Given the description of an element on the screen output the (x, y) to click on. 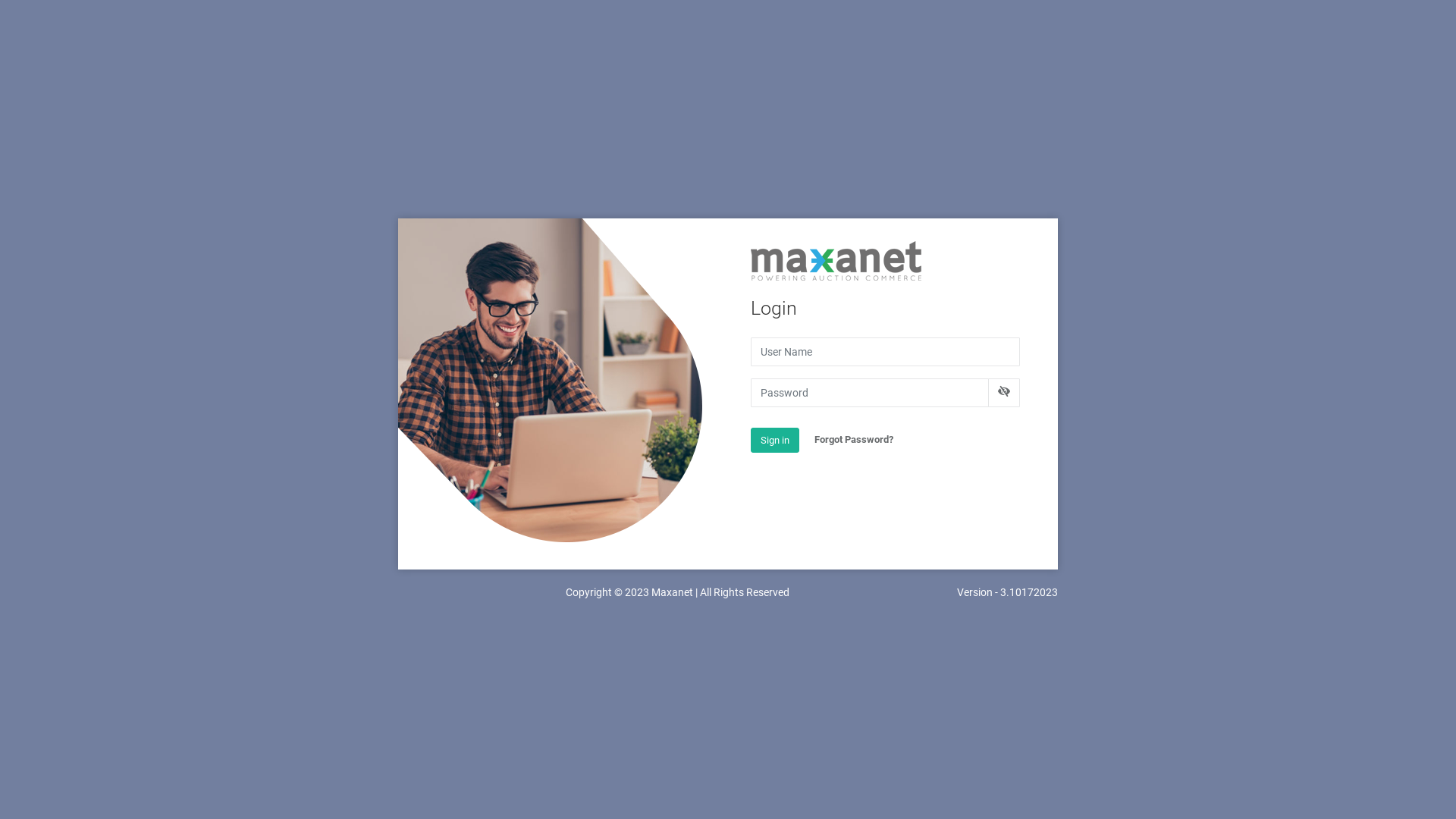
Maxanet - Powering Auction Commerce Element type: hover (835, 260)
Forgot Password? Element type: text (853, 439)
Sign in Element type: text (774, 440)
